Given the description of an element on the screen output the (x, y) to click on. 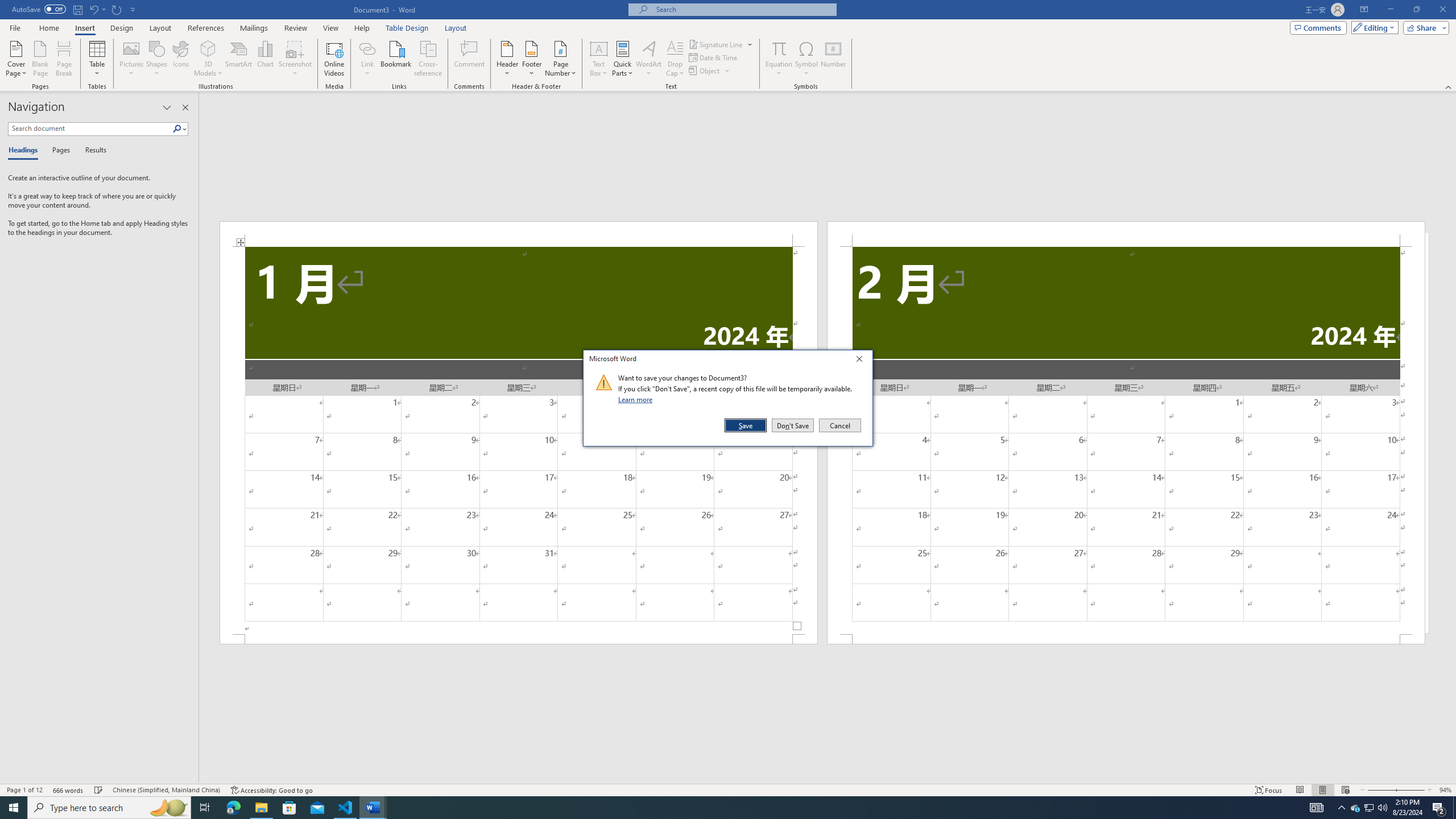
Chart... (265, 58)
Link (367, 48)
Page Number (560, 58)
Cover Page (16, 58)
Undo Increase Indent (96, 9)
Shapes (156, 58)
Running applications (717, 807)
3D Models (208, 58)
